Given the description of an element on the screen output the (x, y) to click on. 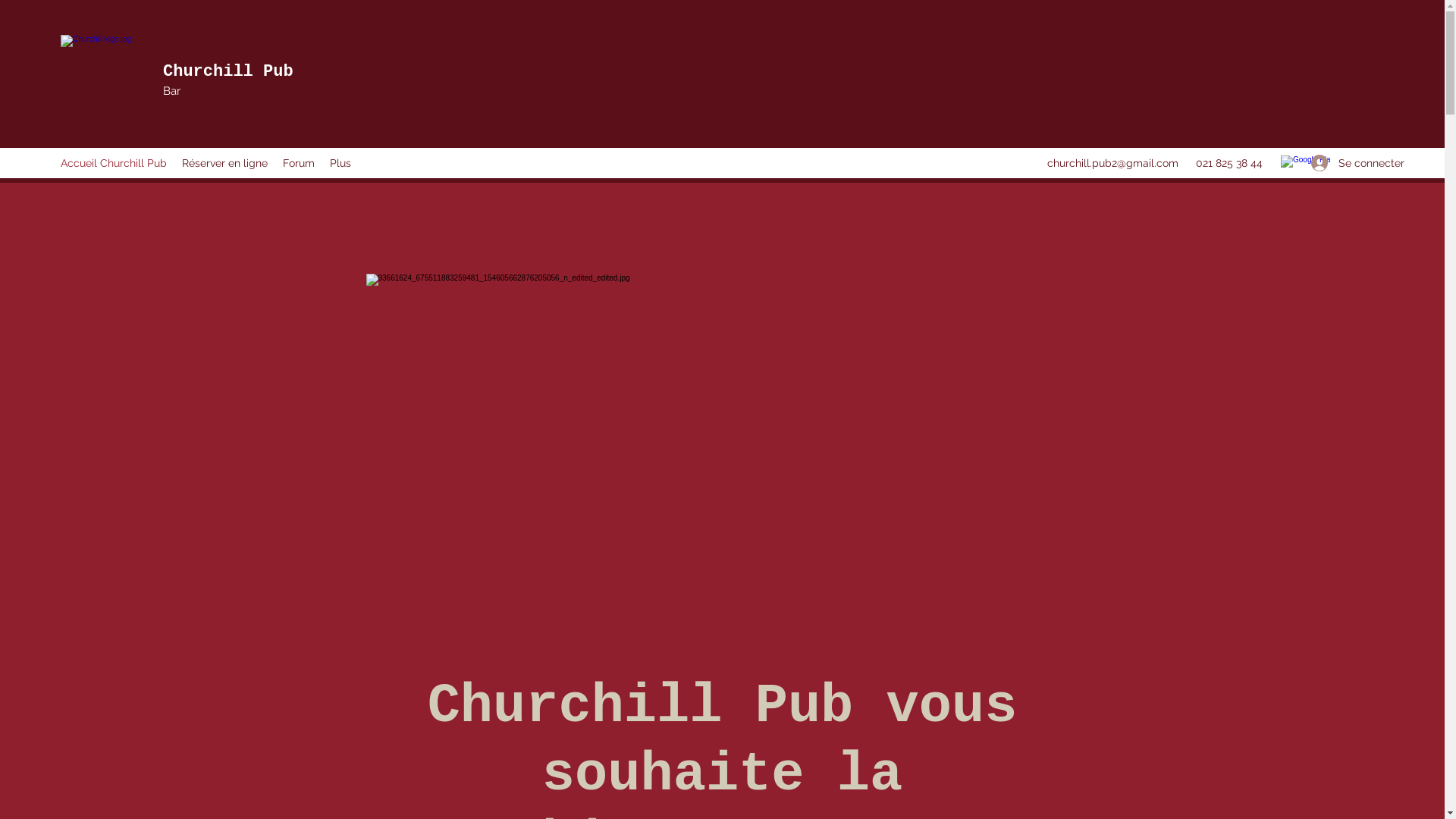
Forum Element type: text (298, 162)
Churchill Pub Element type: text (228, 71)
Accueil Churchill Pub Element type: text (113, 162)
Se connecter Element type: text (1341, 163)
churchill.pub2@gmail.com Element type: text (1112, 162)
